Given the description of an element on the screen output the (x, y) to click on. 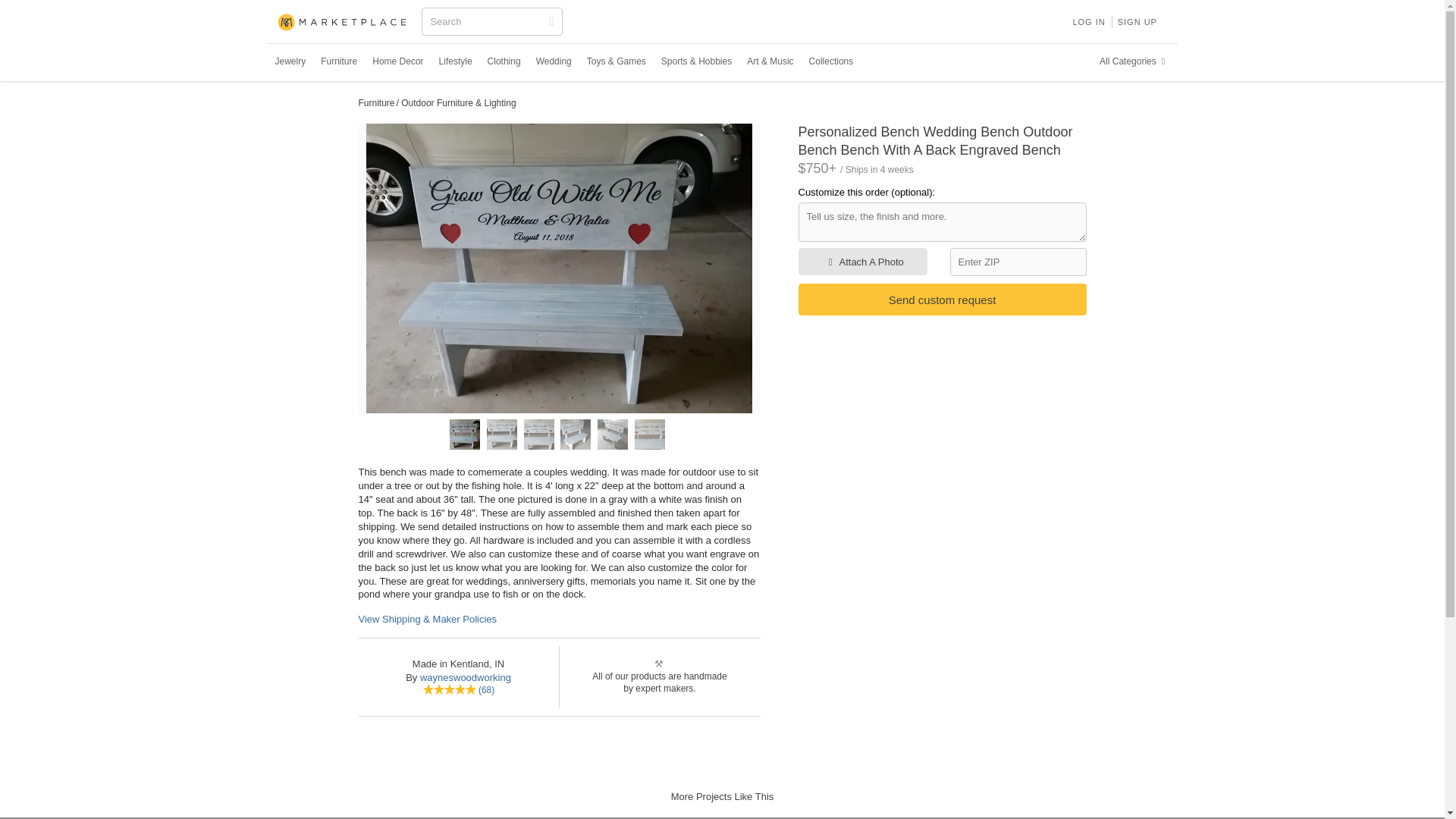
CUSTOMMADE (342, 22)
Log in to CustomMade (1087, 21)
All Categories (1134, 61)
LOG IN (1087, 21)
Custom Jewelry (289, 61)
Jewelry (289, 61)
SIGN UP (1137, 21)
